Given the description of an element on the screen output the (x, y) to click on. 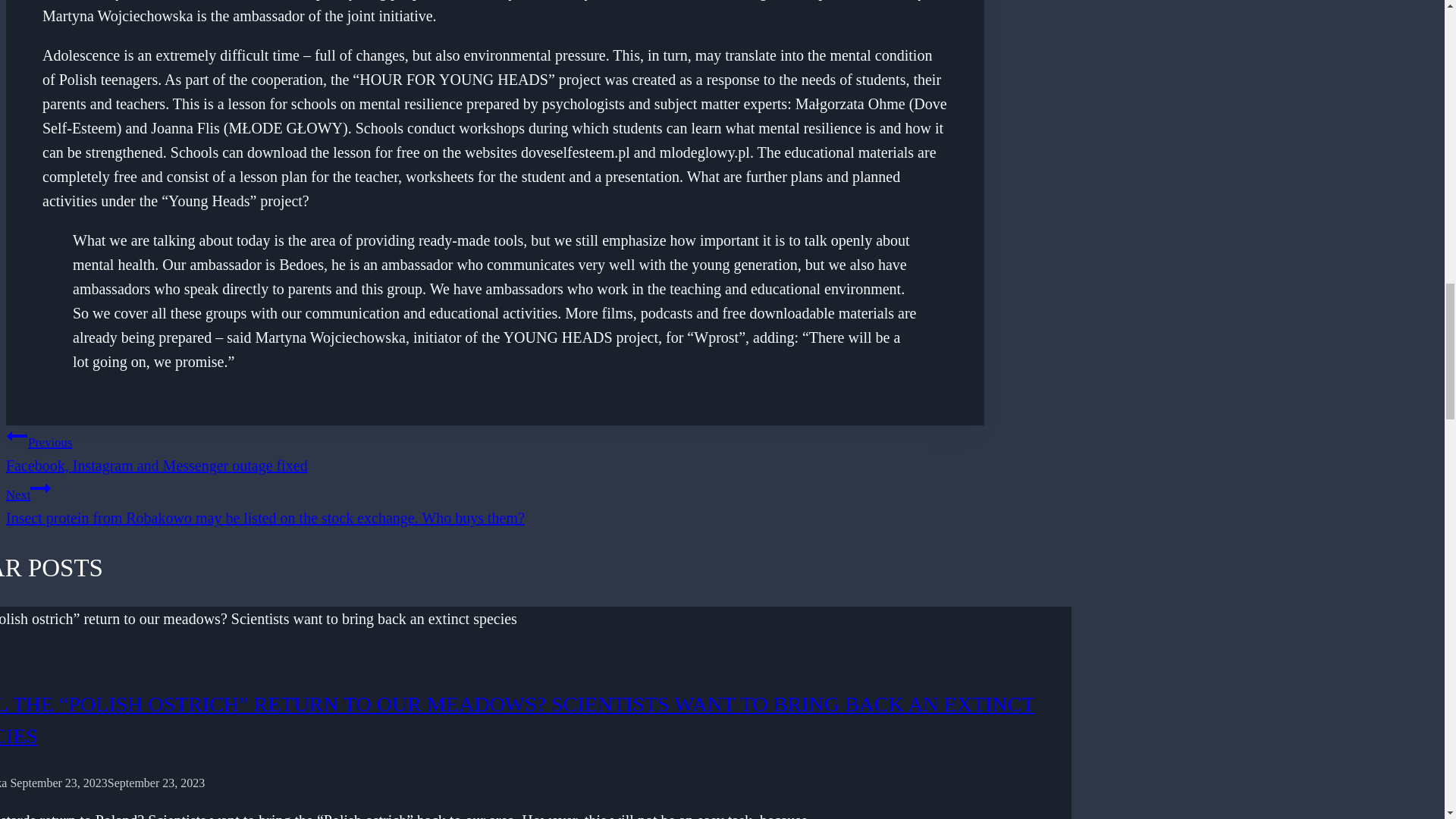
Previous (16, 435)
Continue (40, 487)
